Given the description of an element on the screen output the (x, y) to click on. 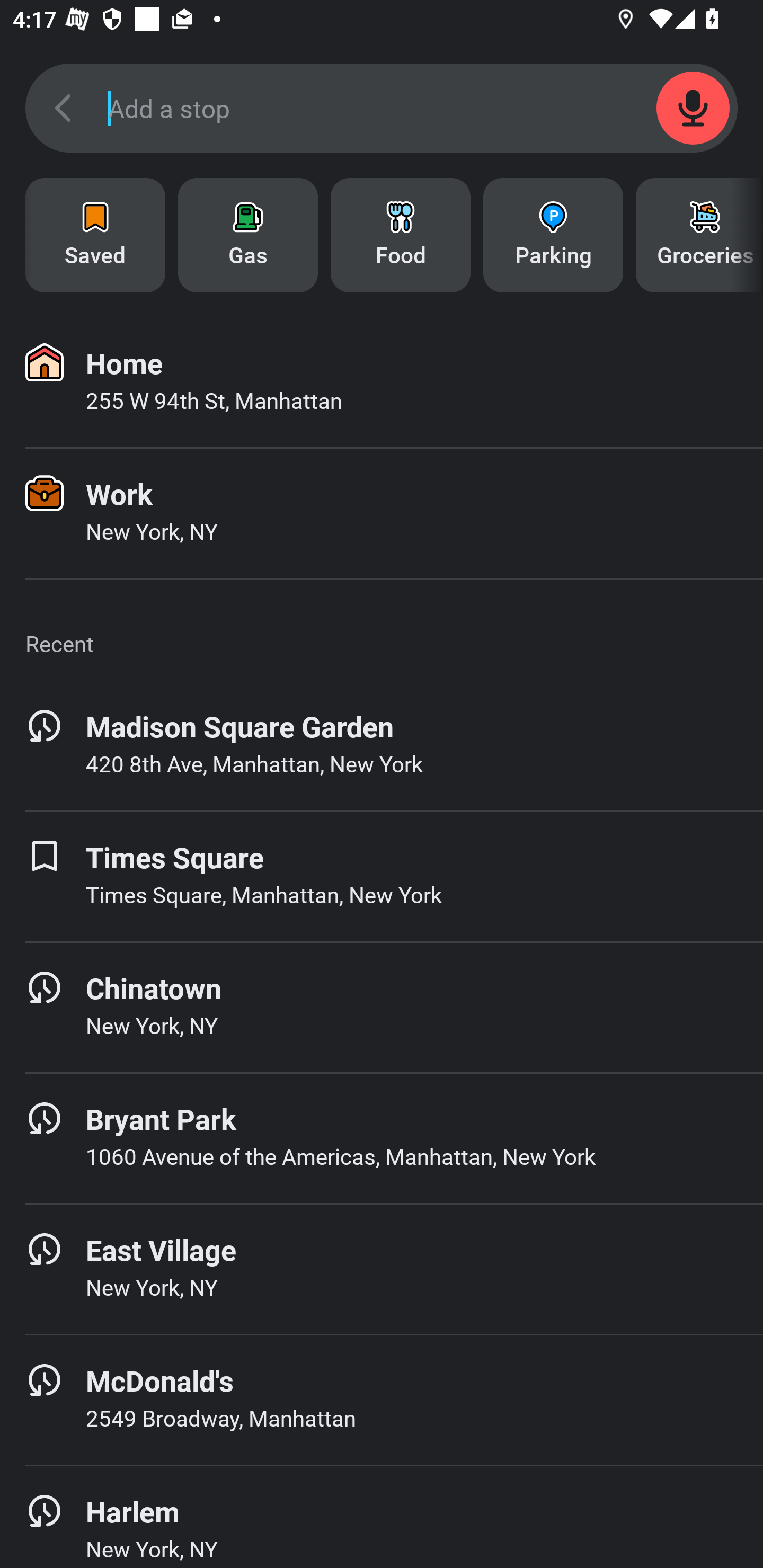
SEARCH_SCREEN_SEARCH_FIELD Add a stop (381, 108)
Saved (95, 234)
Gas (247, 234)
Food (400, 234)
Parking (552, 234)
Groceries (699, 234)
Home 255 W 94th St, Manhattan (381, 382)
Work New York, NY (381, 513)
Times Square Times Square, Manhattan, New York (381, 876)
Chinatown New York, NY (381, 1007)
East Village New York, NY (381, 1269)
McDonald's 2549 Broadway, Manhattan (381, 1399)
Harlem New York, NY (381, 1517)
